Given the description of an element on the screen output the (x, y) to click on. 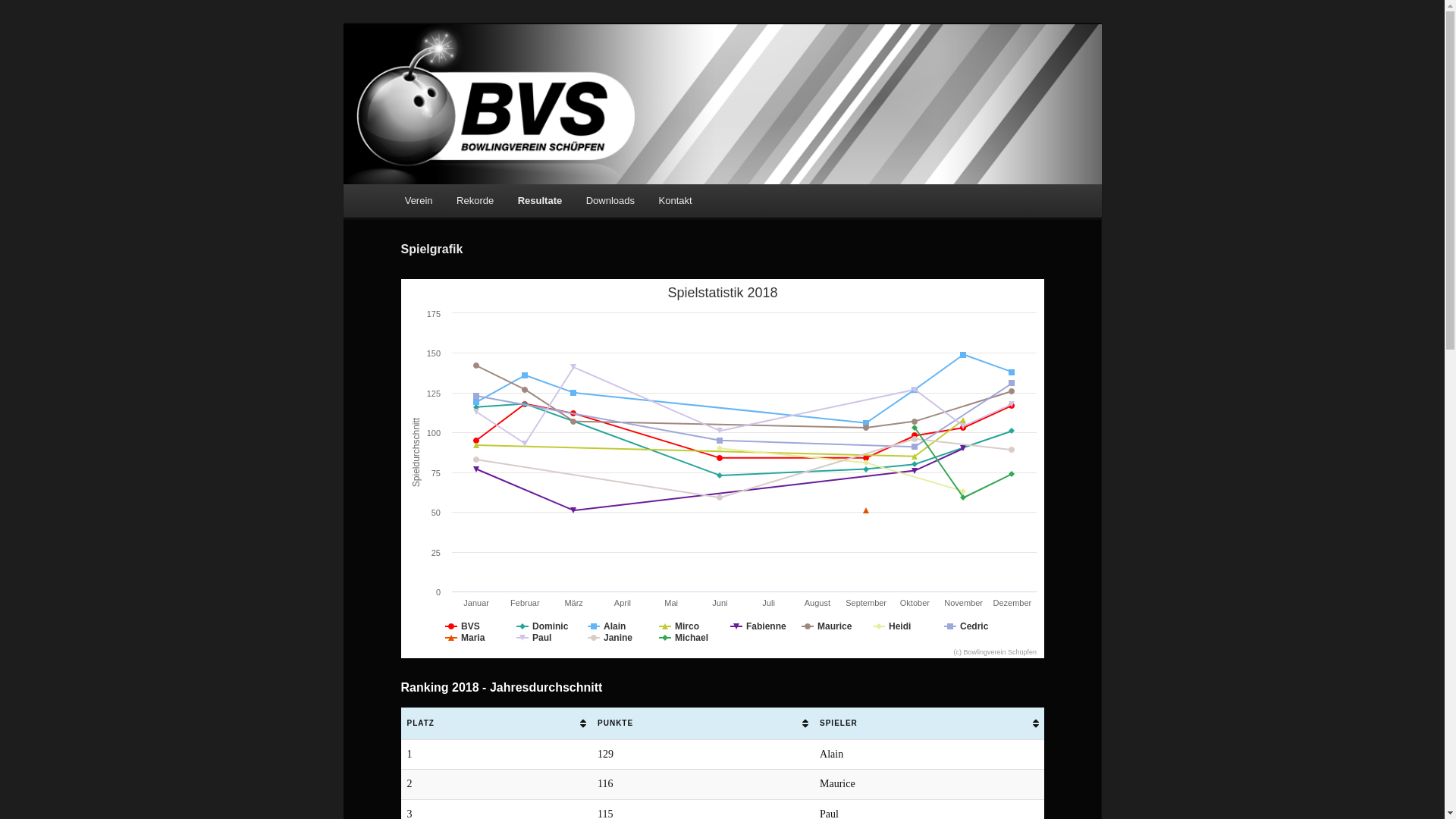
Resultate Element type: text (539, 200)
Downloads Element type: text (610, 200)
Rekorde Element type: text (474, 200)
Zum Inhalt wechseln Element type: text (414, 184)
Verein Element type: text (418, 200)
Kontakt Element type: text (675, 200)
